Given the description of an element on the screen output the (x, y) to click on. 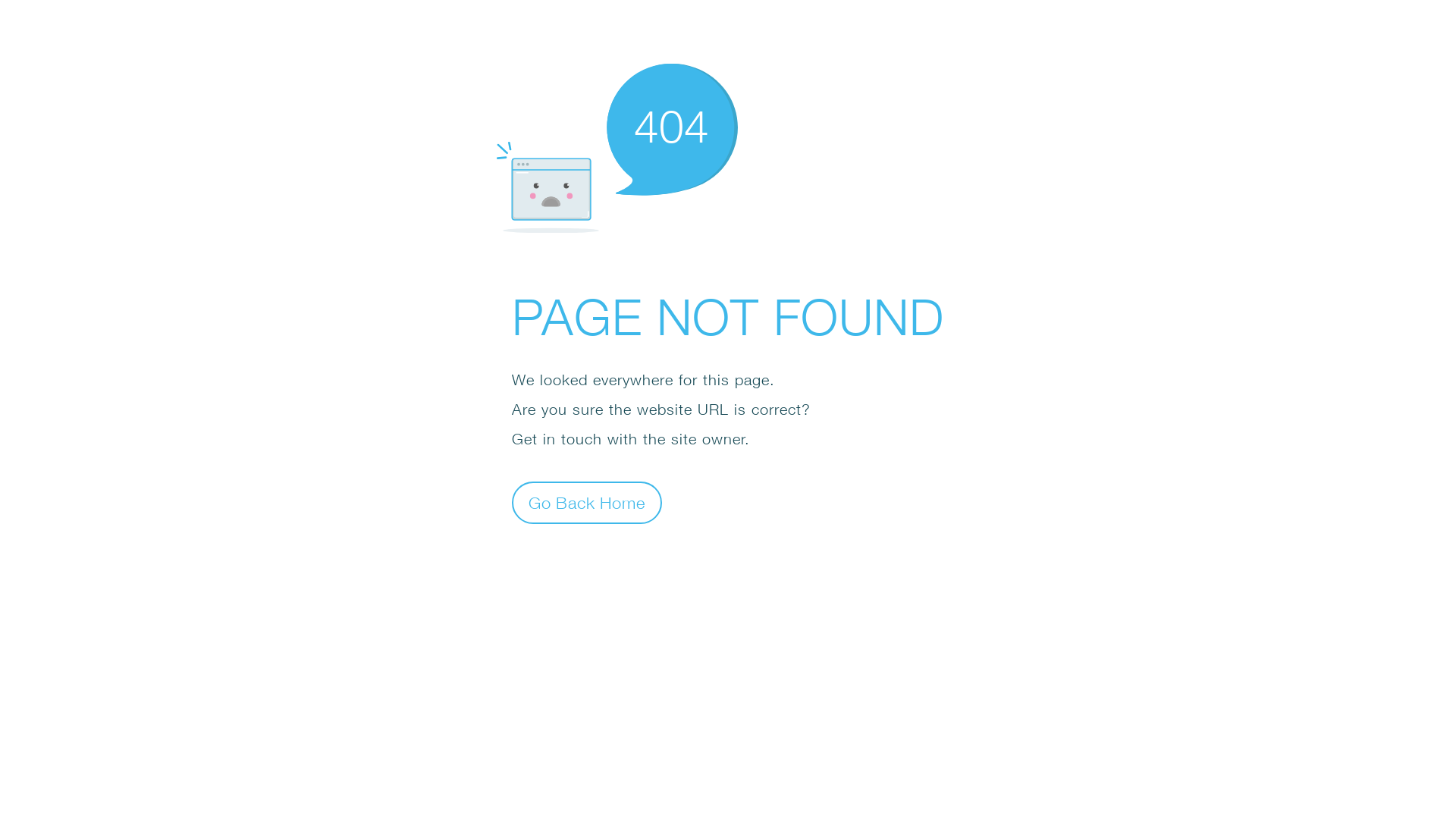
Go Back Home Element type: text (586, 502)
